Given the description of an element on the screen output the (x, y) to click on. 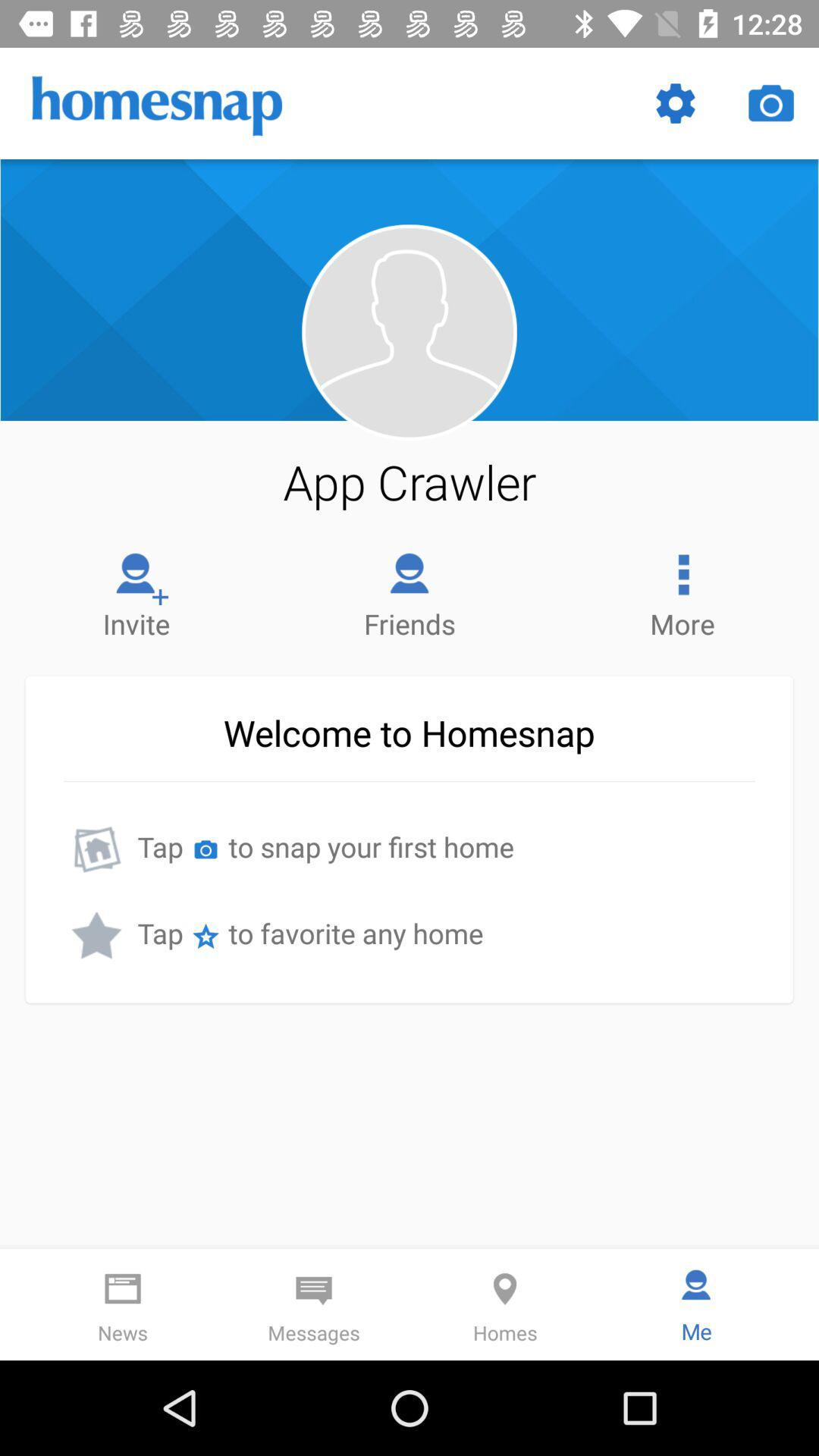
launch the icon to the right of the invite item (409, 591)
